Given the description of an element on the screen output the (x, y) to click on. 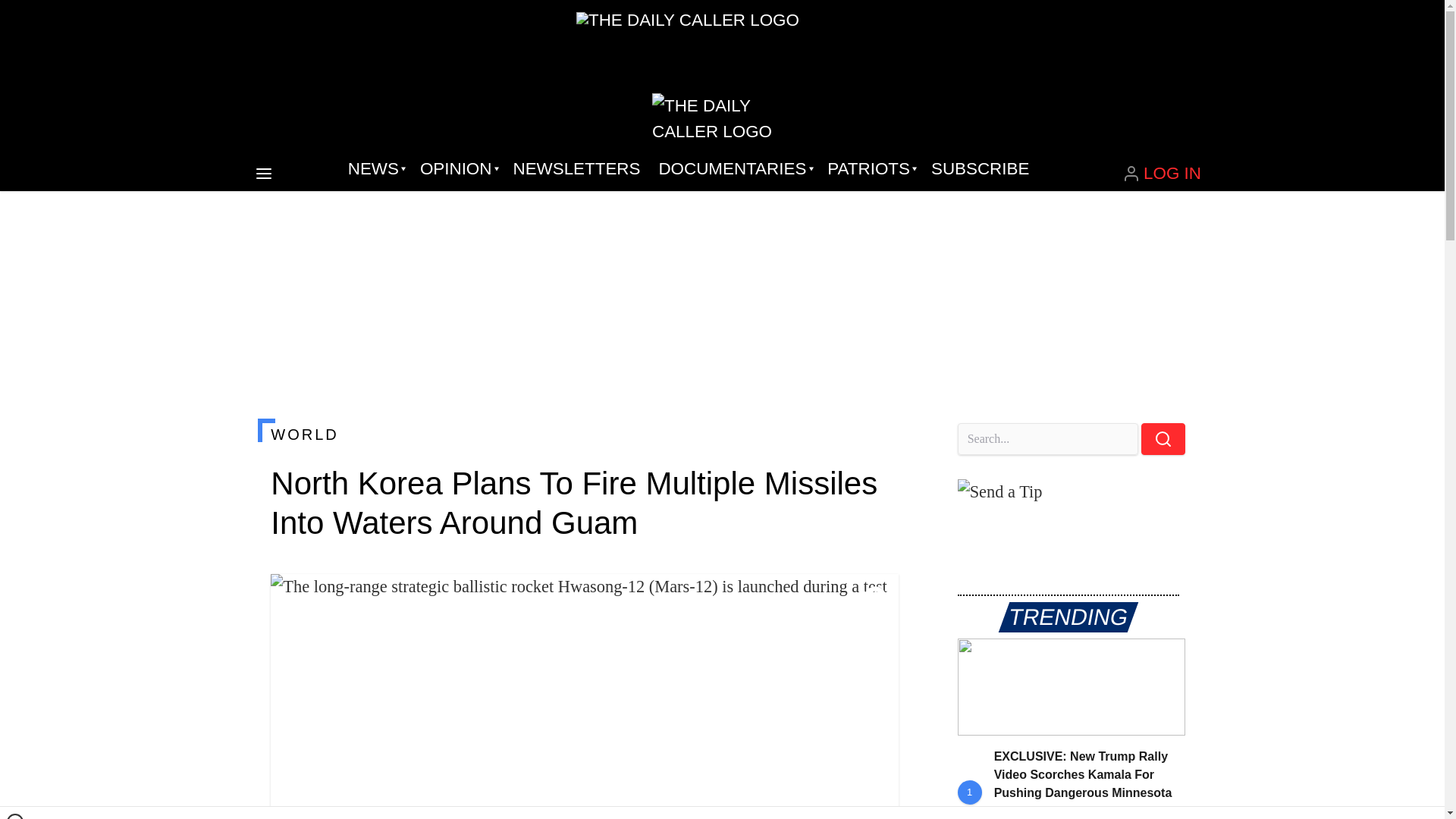
PATRIOTS (869, 168)
DOCUMENTARIES (733, 168)
OPINION (456, 168)
SUBSCRIBE (979, 168)
Toggle fullscreen (874, 597)
Close window (14, 816)
NEWSLETTERS (576, 168)
NEWS (374, 168)
WORLD (584, 434)
